Given the description of an element on the screen output the (x, y) to click on. 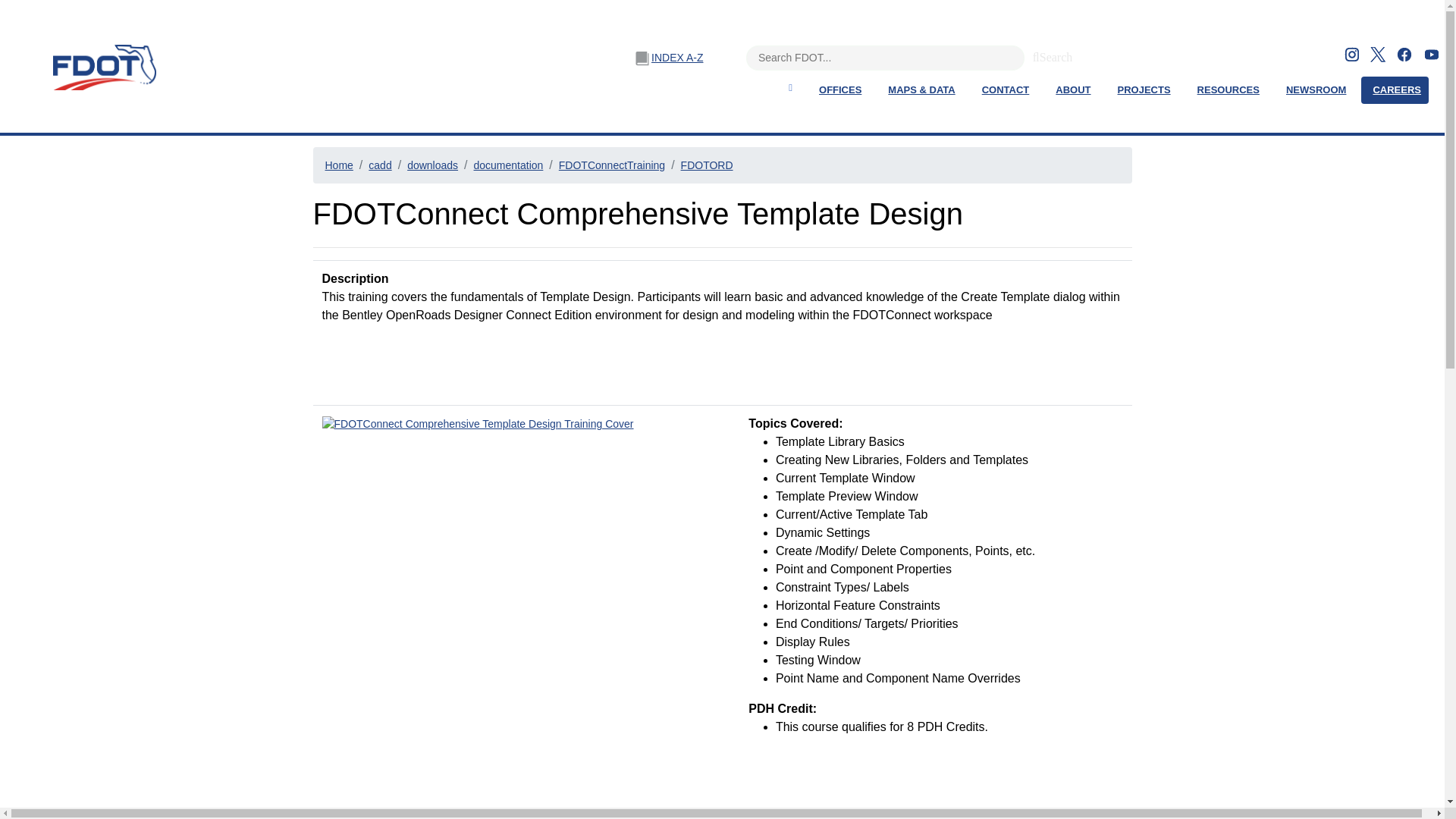
Homepage (788, 87)
facebook (1403, 53)
Home (338, 164)
Instgram Icon (1351, 54)
youtube (1431, 53)
Search input (885, 57)
PROJECTS (1143, 90)
FDOTConnectTraining (612, 164)
Search (1035, 55)
documentation (508, 164)
X icon (1378, 54)
FDOTORD (707, 164)
Offices page (839, 90)
RESOURCES (1227, 90)
Florida Department of Transportation Home Page (100, 67)
